Given the description of an element on the screen output the (x, y) to click on. 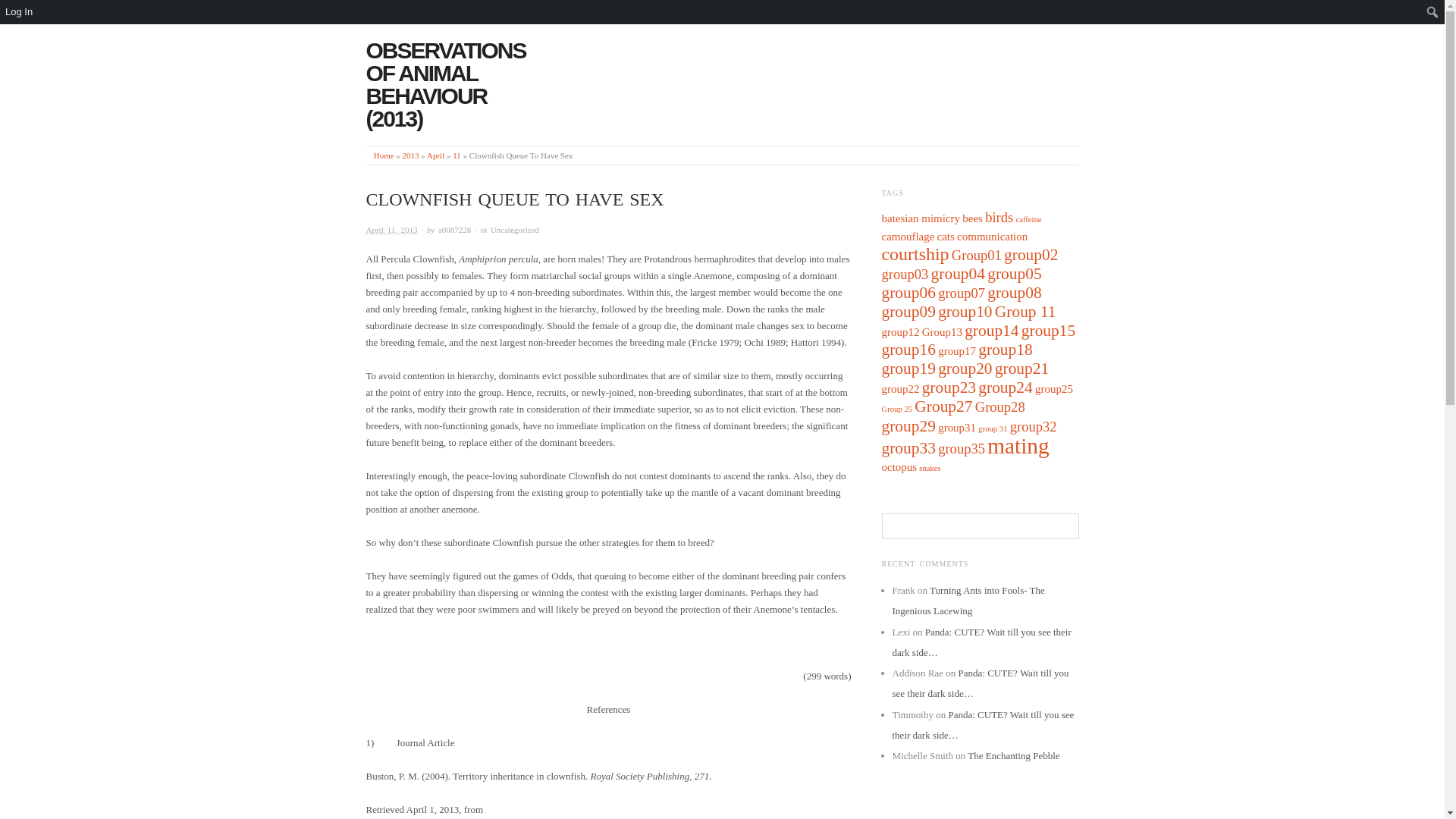
Home (384, 154)
group06 (907, 292)
bees (972, 218)
group19 (907, 368)
Group 11 (1025, 311)
group17 (956, 350)
caffeine (1027, 219)
birds (999, 217)
group15 (1048, 330)
Group01 (976, 254)
courtship (914, 253)
group10 (964, 311)
April 11, 2013 (456, 154)
2013 (411, 154)
a0087228 (454, 229)
